Given the description of an element on the screen output the (x, y) to click on. 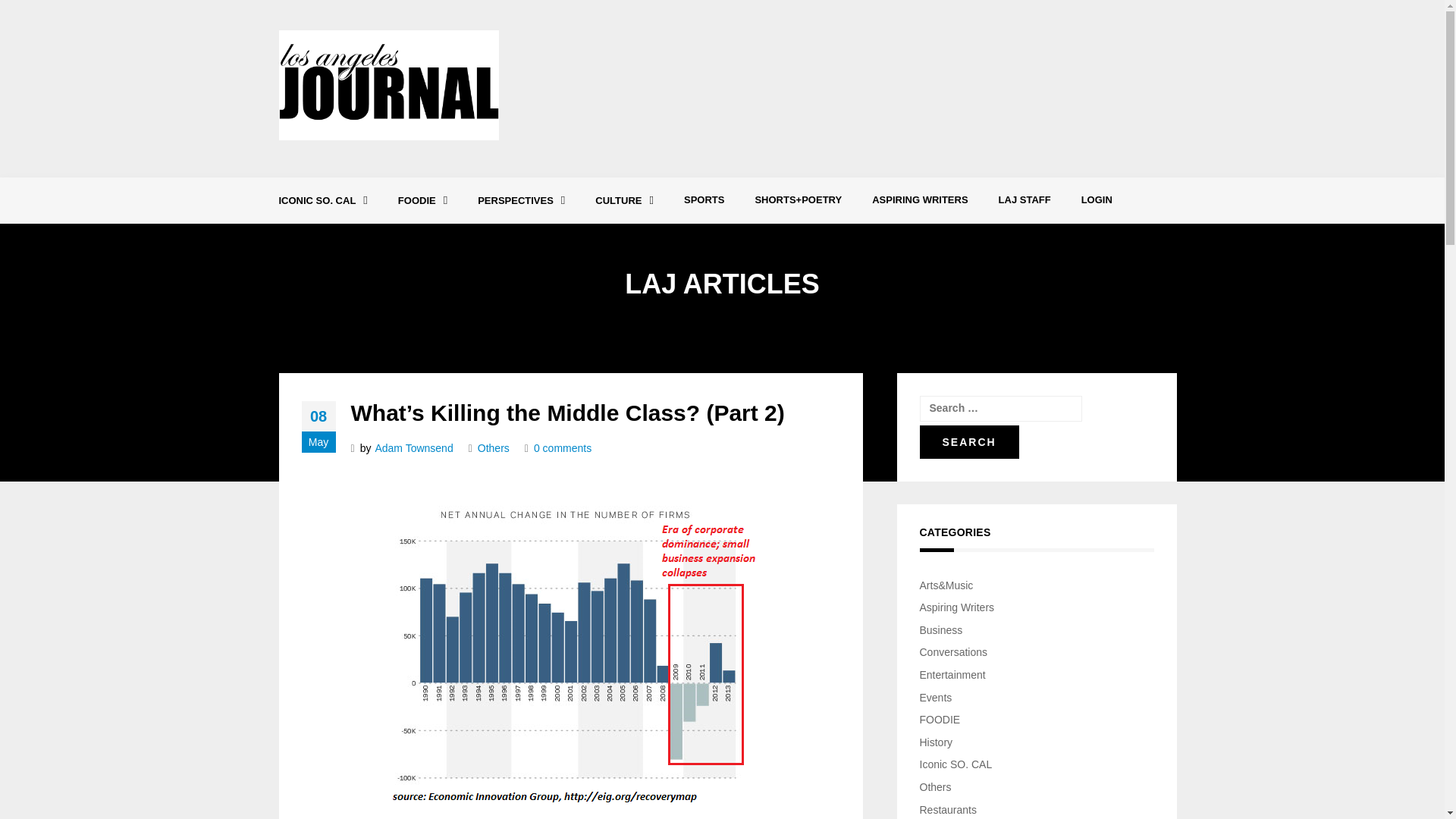
CULTURE (623, 200)
Culture (623, 200)
Conversations (564, 238)
SPORTS (703, 199)
ICONIC SO. CAL (322, 200)
Entertainment (365, 238)
FOODIE (422, 200)
LAJ STAFF (1024, 199)
Conversations (564, 238)
Perspectives (521, 200)
Reviews (485, 238)
Entertainment (365, 238)
Search (967, 441)
Iconic So. Cal (322, 200)
ASPIRING WRITERS (919, 199)
